Given the description of an element on the screen output the (x, y) to click on. 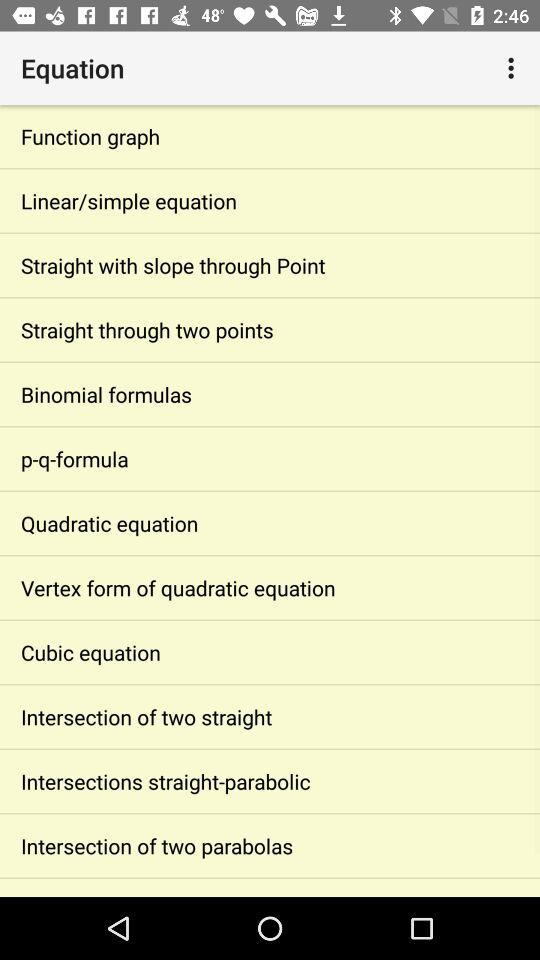
launch item below the binomial formulas (270, 458)
